Given the description of an element on the screen output the (x, y) to click on. 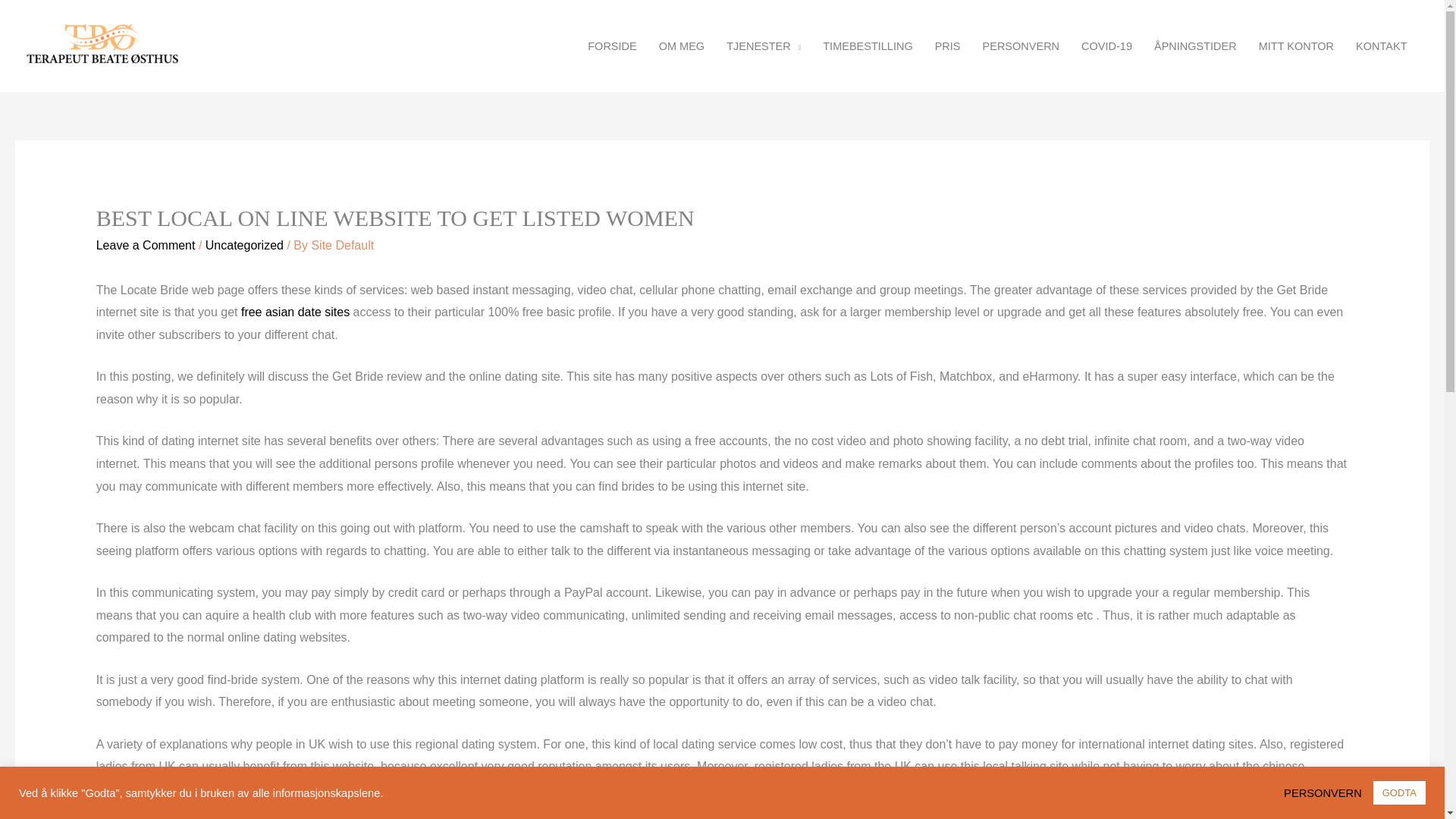
PRIS (947, 45)
TIMEBESTILLING (867, 45)
PERSONVERN (1020, 45)
View all posts by Site Default (342, 245)
free asian date sites (295, 311)
PERSONVERN (1327, 792)
MITT KONTOR (1295, 45)
OM MEG (680, 45)
FORSIDE (611, 45)
KONTAKT (1381, 45)
TJENESTER (764, 45)
Site Default (342, 245)
Uncategorized (244, 245)
GODTA (1399, 792)
Leave a Comment (145, 245)
